Given the description of an element on the screen output the (x, y) to click on. 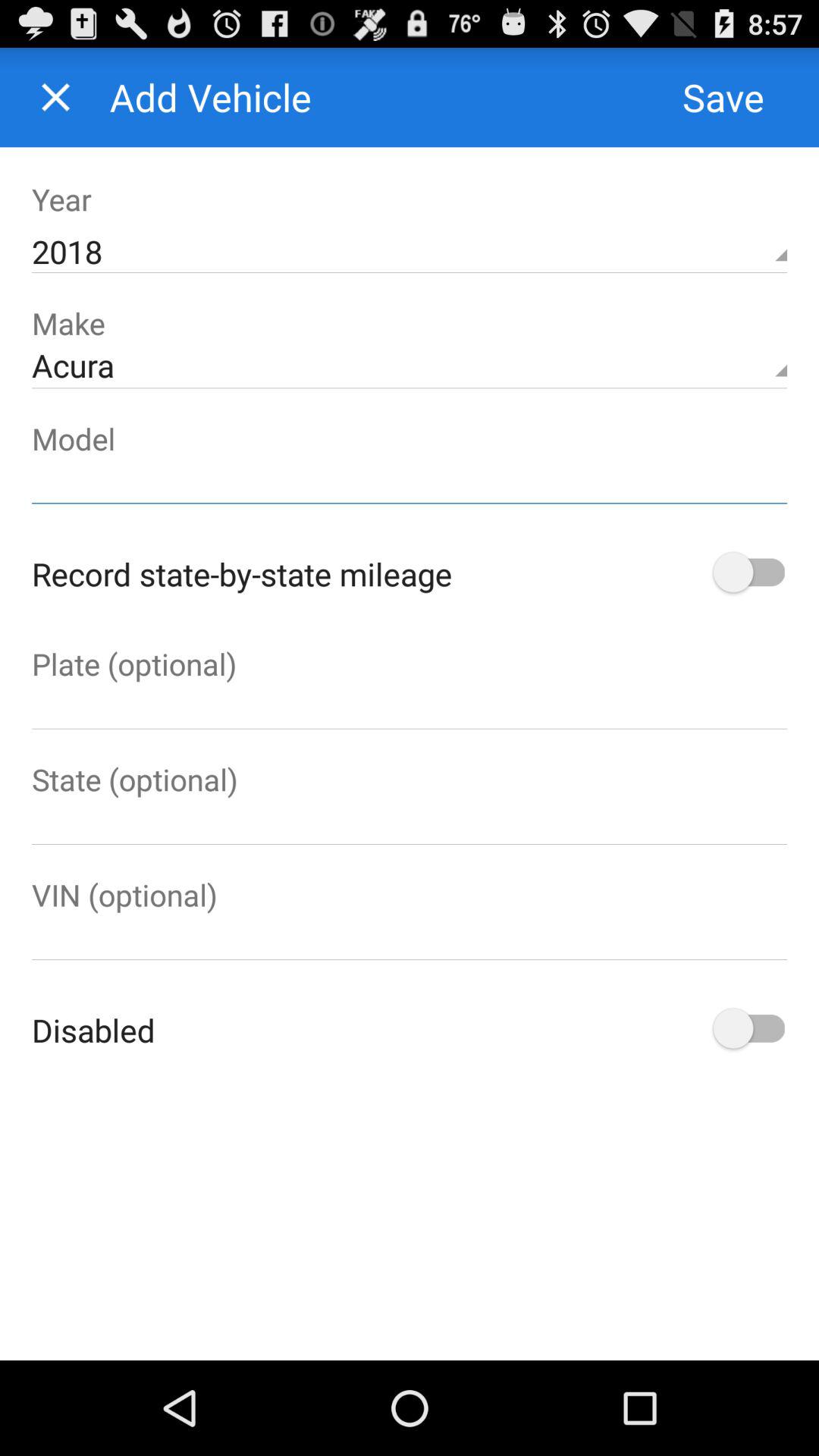
vpn address (409, 937)
